Given the description of an element on the screen output the (x, y) to click on. 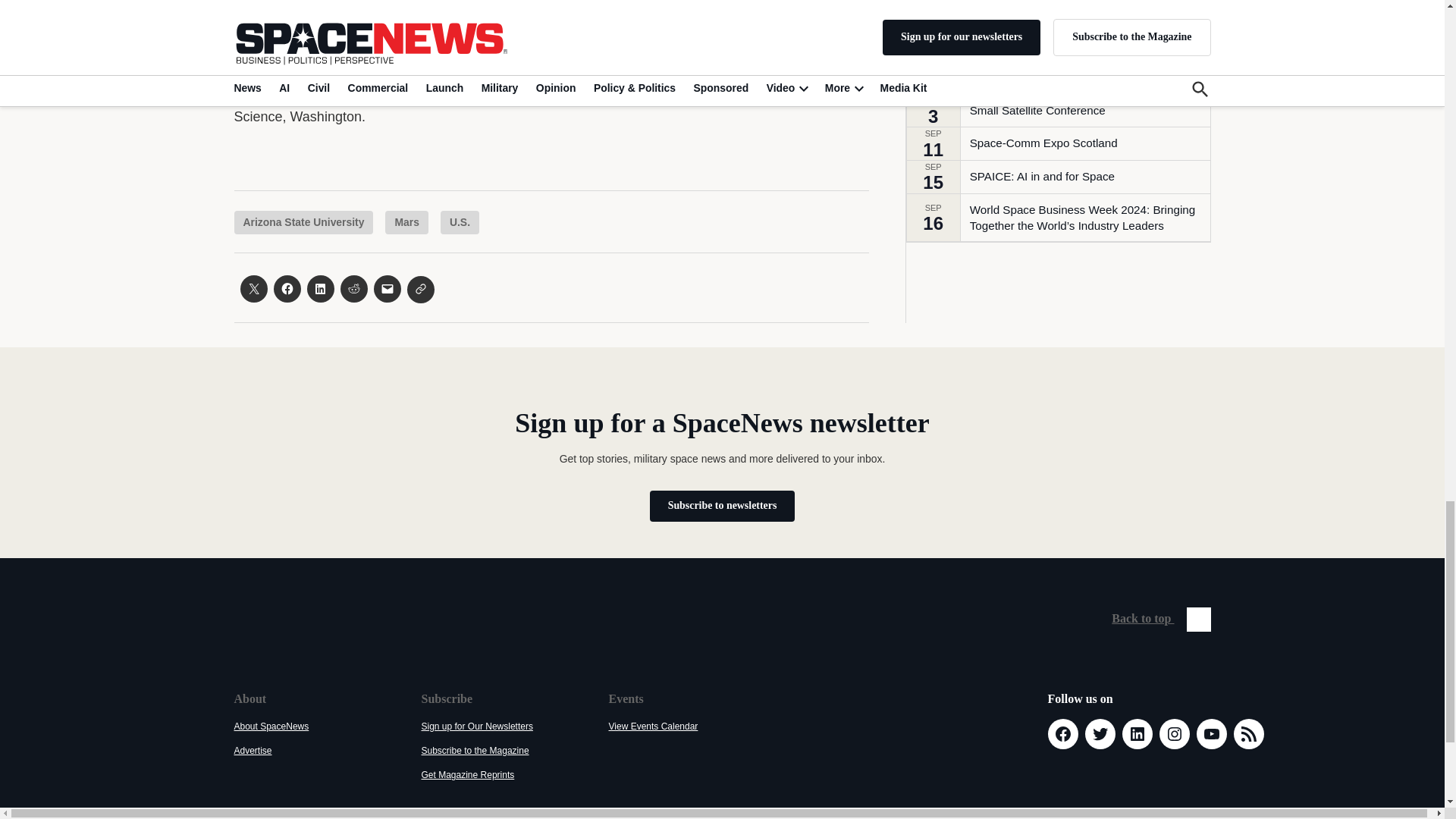
Click to share on Facebook (286, 288)
Click to email a link to a friend (386, 288)
Click to share on Reddit (352, 288)
Click to share on LinkedIn (319, 288)
Click to share on X (253, 288)
Click to share on Clipboard (419, 289)
